Given the description of an element on the screen output the (x, y) to click on. 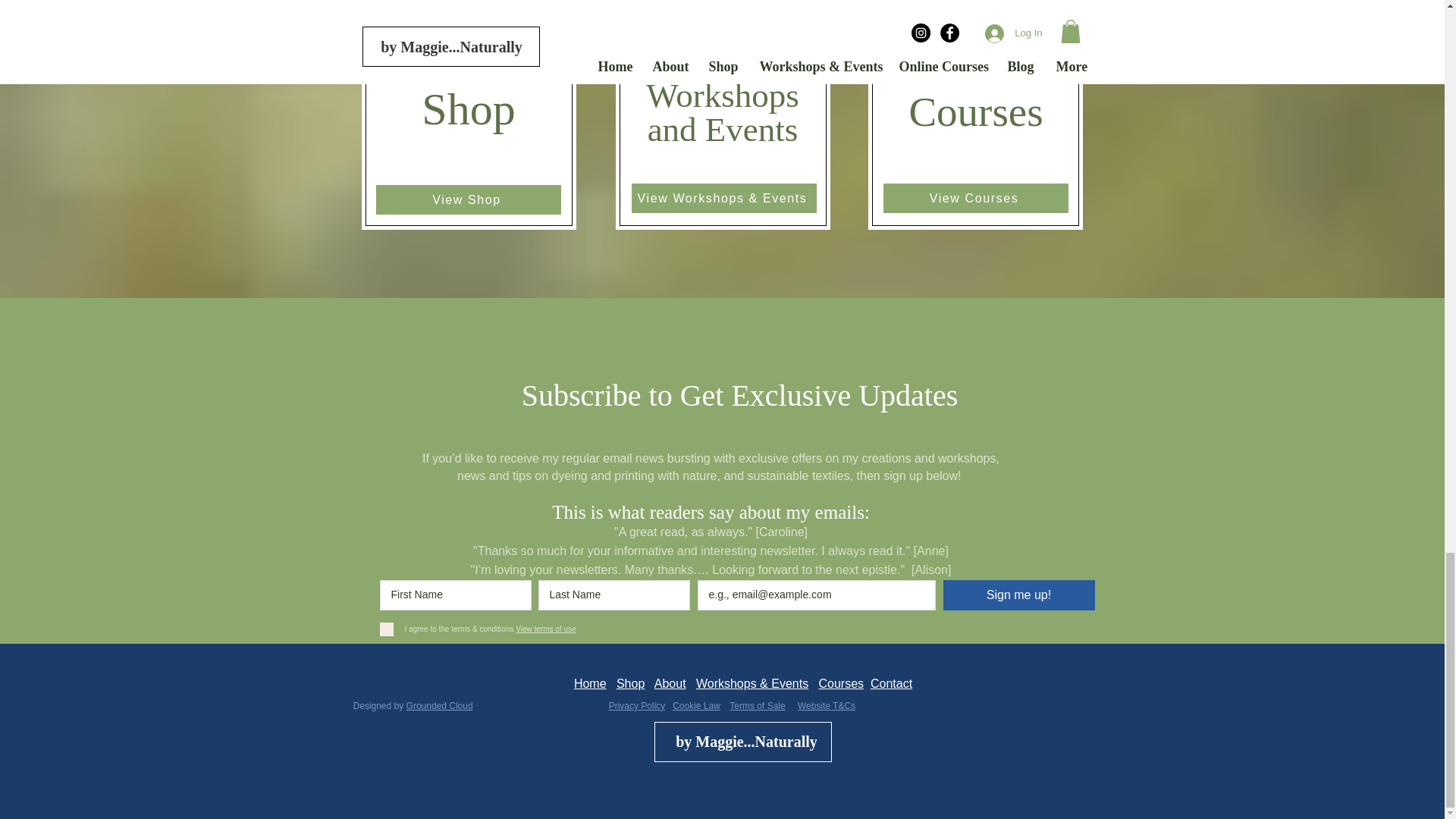
Courses (840, 683)
View Shop (467, 199)
View terms of use (544, 628)
Grounded Cloud (439, 706)
View Courses (974, 197)
Privacy Policy (636, 706)
Contact (891, 683)
Cookie Law (696, 706)
Home (590, 683)
About (669, 683)
Sign me up! (1018, 594)
Shop (630, 683)
